Given the description of an element on the screen output the (x, y) to click on. 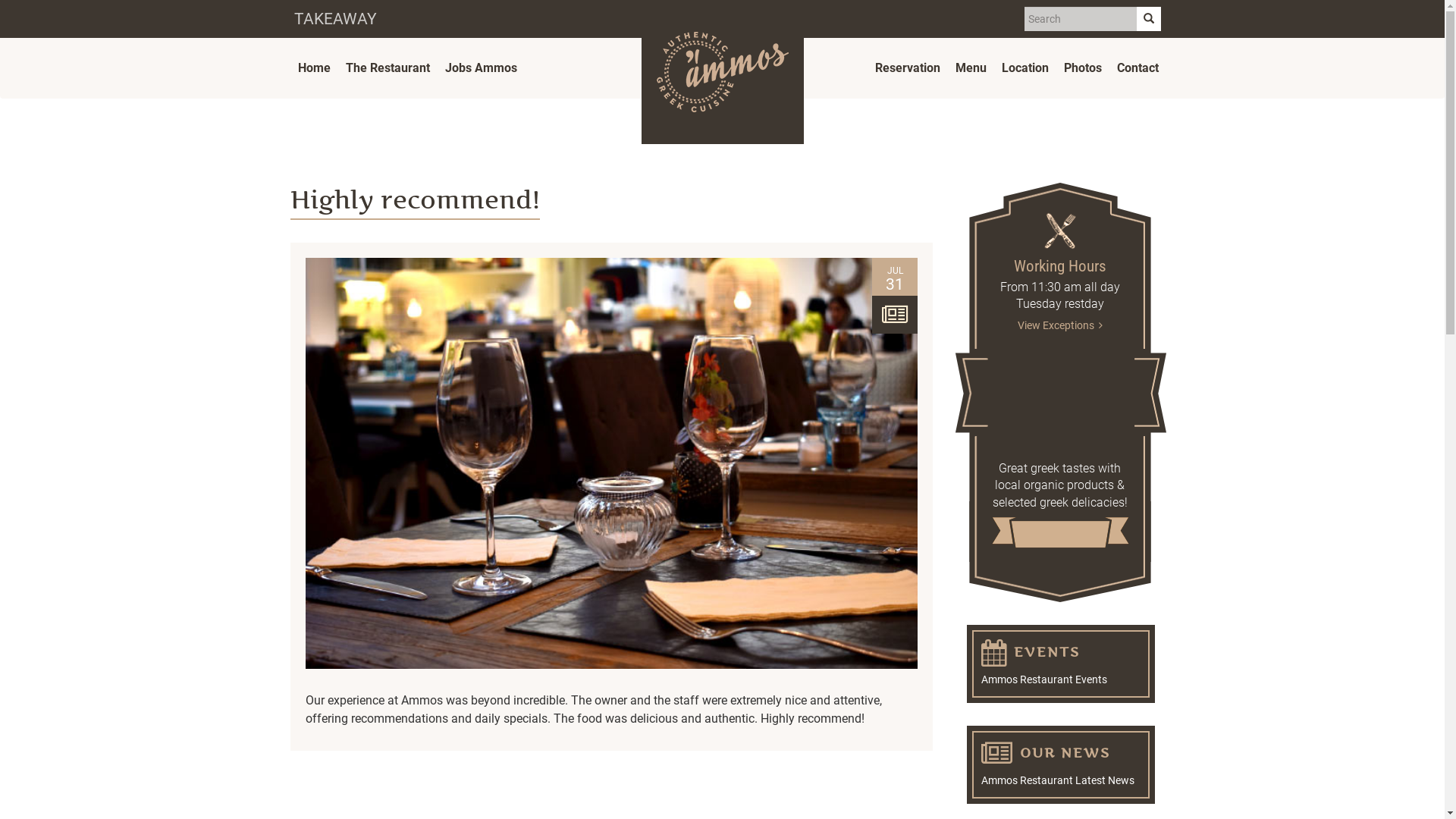
OUR NEWS
Ammos Restaurant Latest News Element type: text (1060, 764)
Home Element type: text (313, 68)
TAKEAWAY Element type: text (334, 18)
Ammos Restaurant - Lucerne Element type: hover (722, 72)
Photos Element type: text (1082, 68)
Menu Element type: text (970, 68)
EVENTS
Ammos Restaurant Events Element type: text (1060, 663)
View Exceptions   Element type: text (1059, 325)
The Restaurant Element type: text (387, 68)
Contact Element type: text (1137, 68)
Jobs Ammos Element type: text (480, 68)
Location Element type: text (1024, 68)
Reservation Element type: text (907, 68)
